Given the description of an element on the screen output the (x, y) to click on. 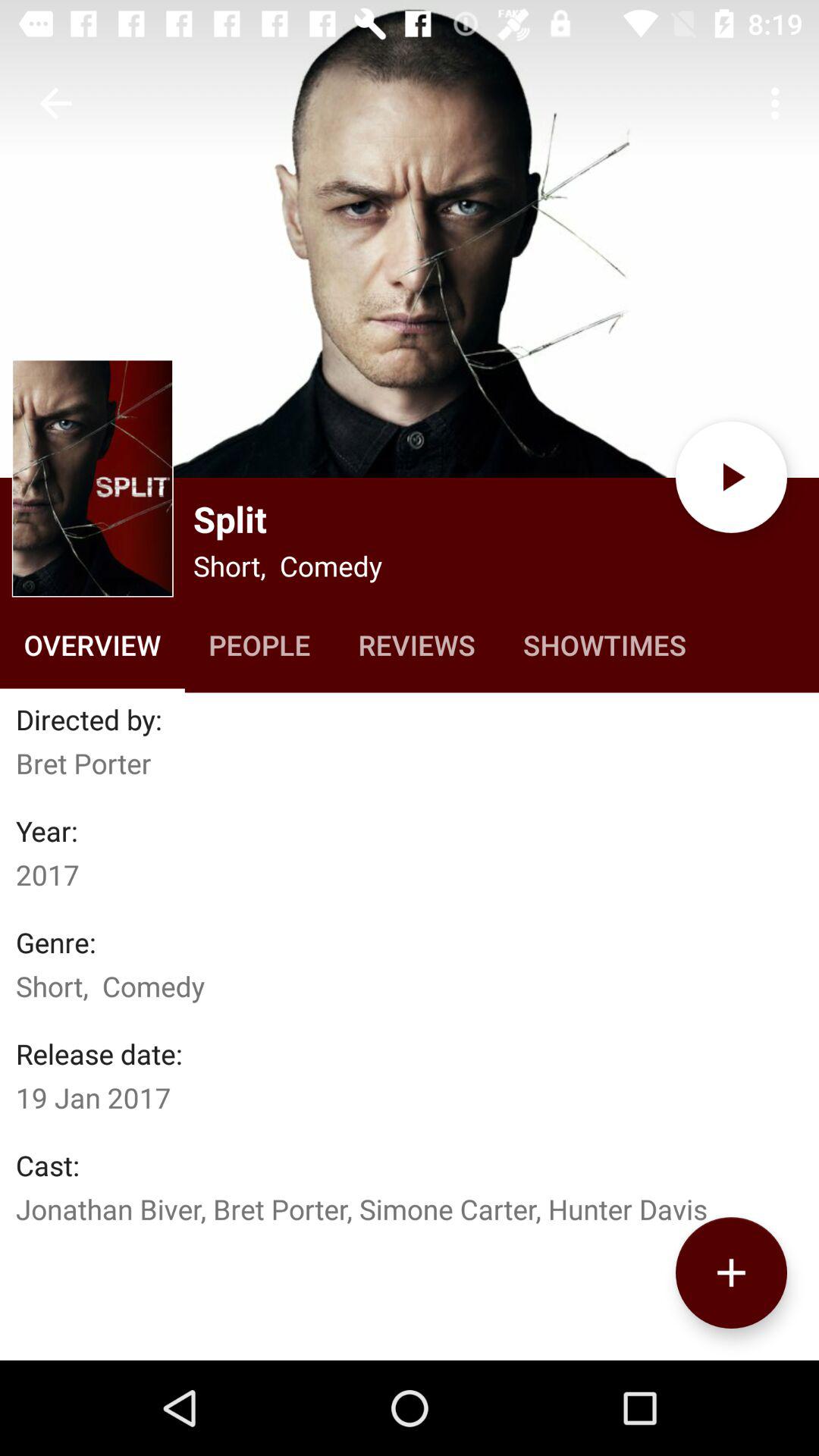
choose item next to split icon (92, 478)
